Given the description of an element on the screen output the (x, y) to click on. 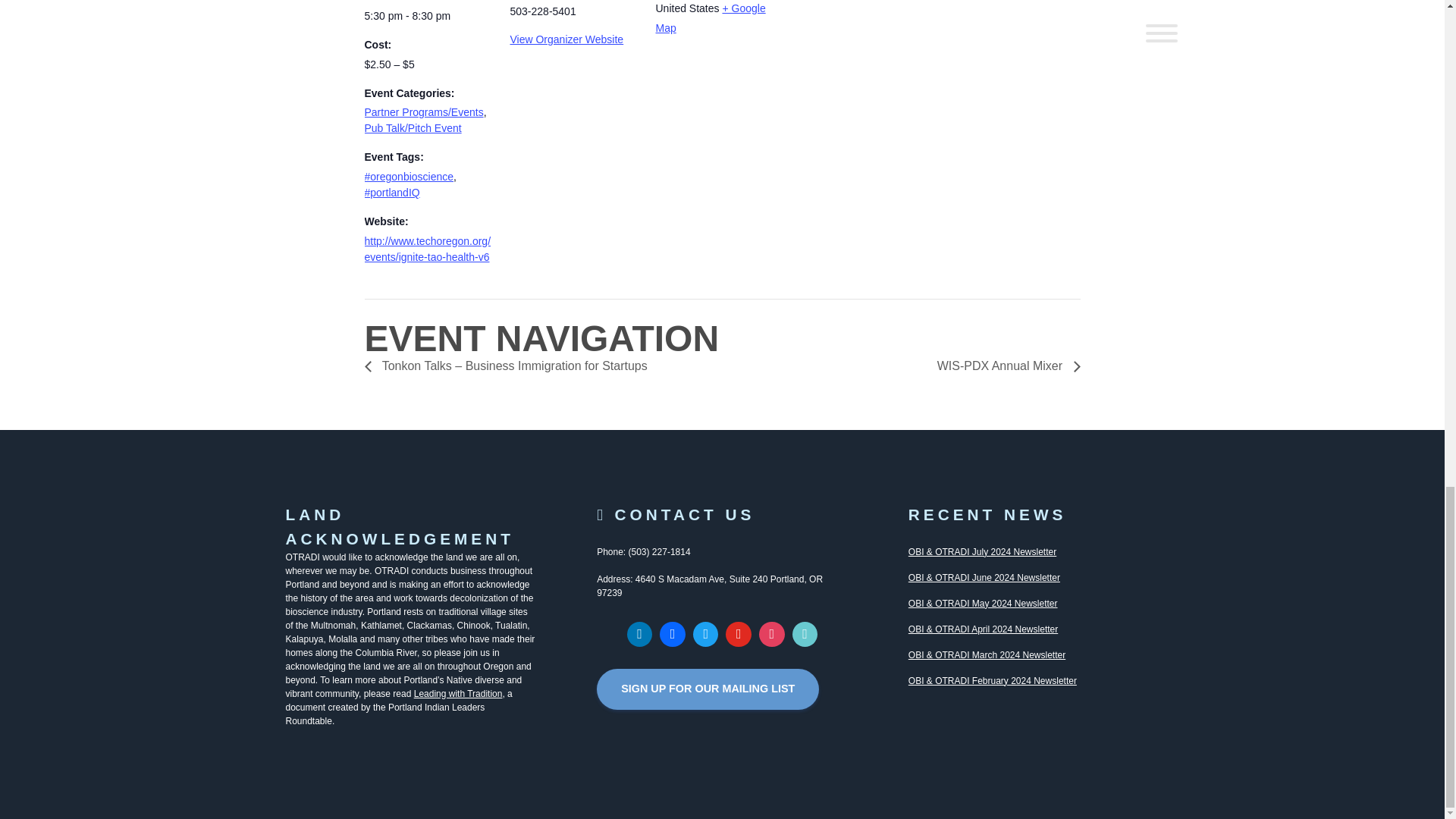
WIS-PDX Annual Mixer (1004, 365)
Leading with Tradition (457, 693)
Click to view a Google Map (710, 18)
Instagram (772, 634)
Tiktok (805, 634)
Facebook (672, 634)
View Organizer Website (566, 39)
Youtube (738, 634)
2018-11-13 (428, 16)
Linkedin (639, 634)
Twitter (705, 634)
